Given the description of an element on the screen output the (x, y) to click on. 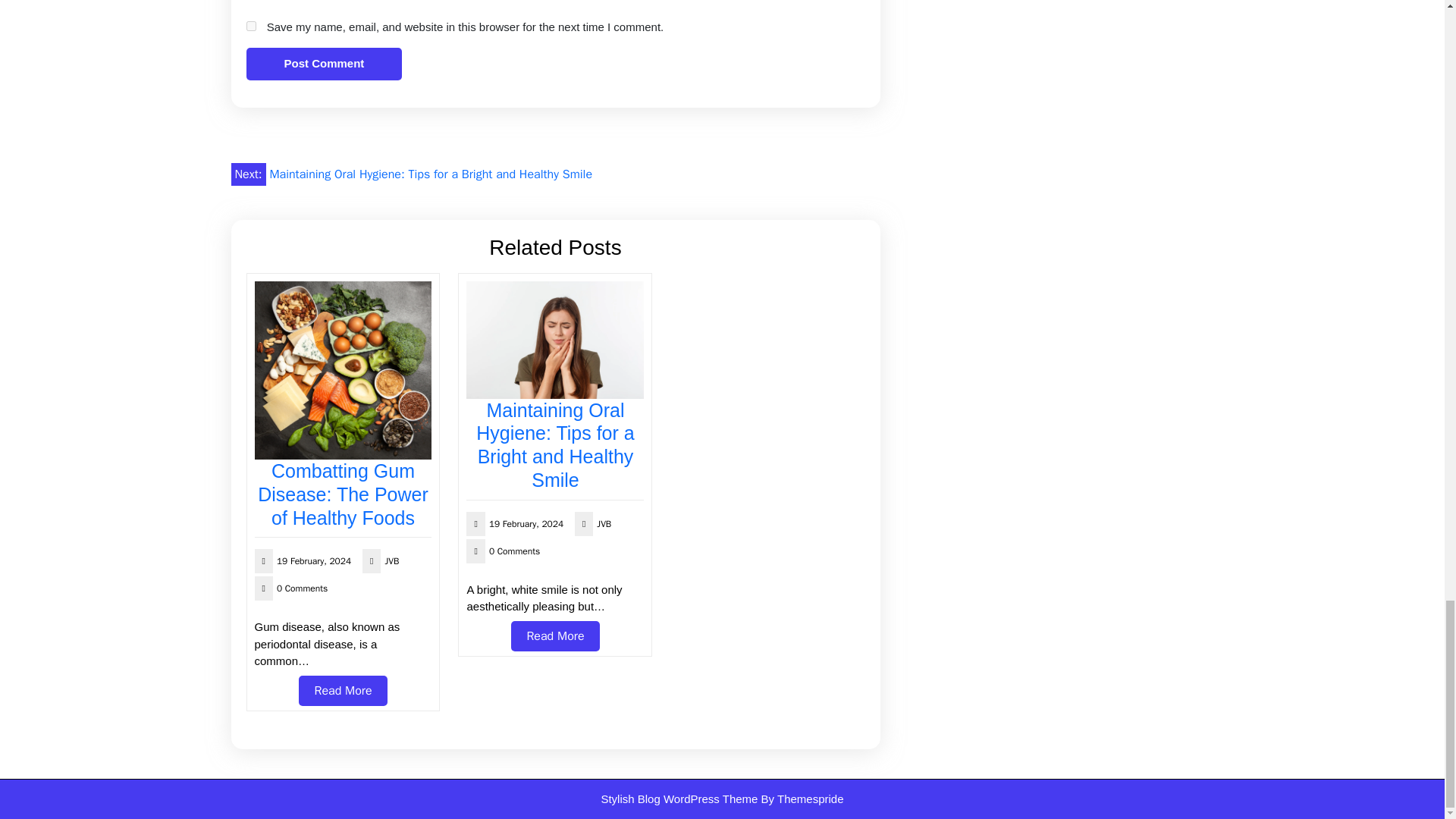
Read More (342, 690)
yes (251, 26)
Post Comment (323, 63)
Read More (554, 635)
Combatting Gum Disease: The Power of Healthy Foods (342, 494)
Post Comment (323, 63)
Read More (342, 690)
Read More (554, 635)
Combatting Gum Disease: The Power of Healthy Foods (342, 494)
